Given the description of an element on the screen output the (x, y) to click on. 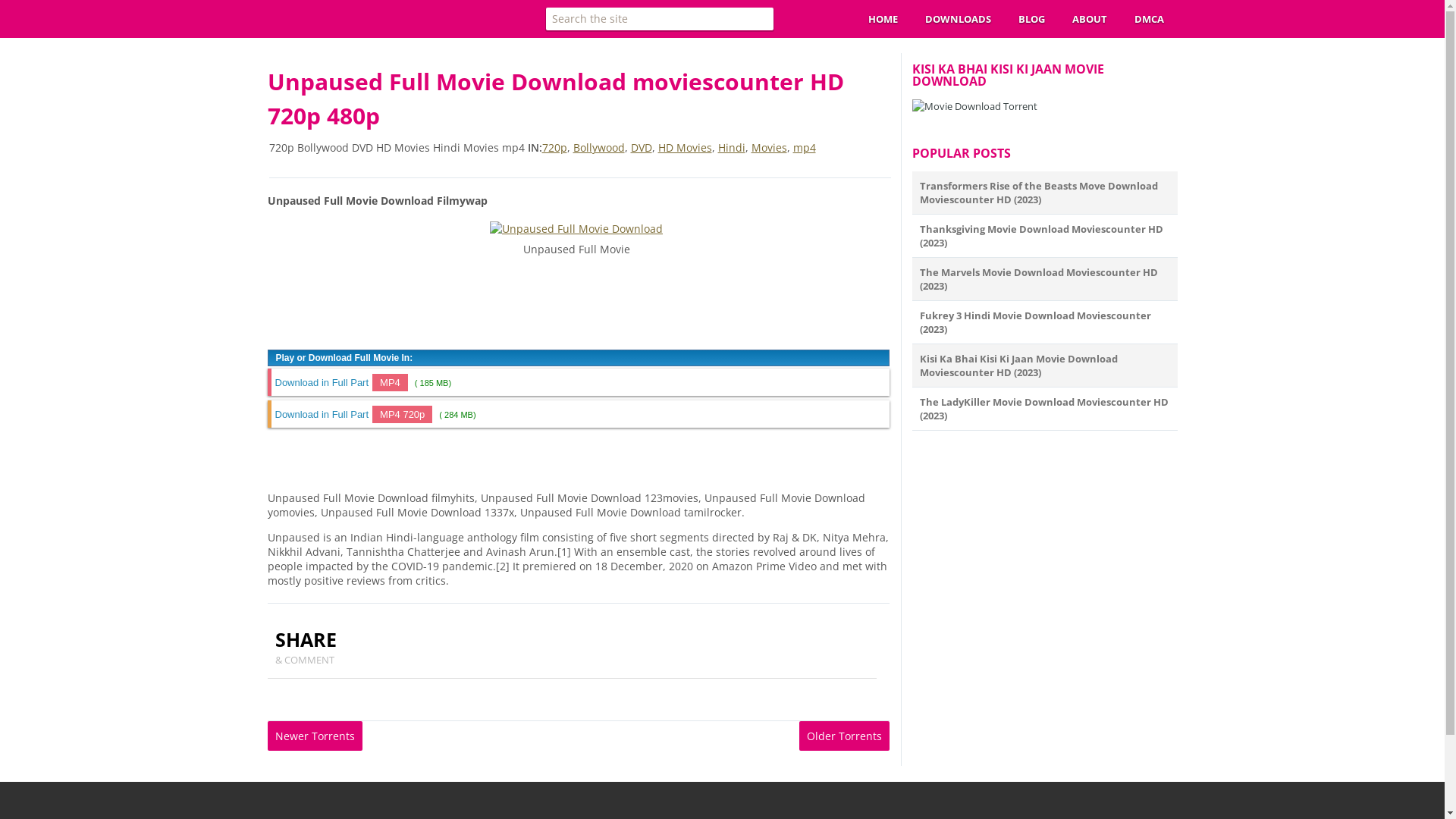
Fukrey 3 Hindi Movie Download Moviescounter (2023) Element type: text (1034, 321)
DVD Element type: text (641, 147)
DMCA Element type: text (1148, 18)
Bollywood Element type: text (598, 147)
Movies Element type: text (768, 147)
Older Torrents Element type: text (844, 735)
mp4 Element type: text (804, 147)
Thanksgiving Movie Download Moviescounter HD (2023) Element type: text (1040, 235)
HOME Element type: text (881, 18)
Movie Download Element type: hover (973, 105)
Moviescounter Element type: text (325, 32)
Hindi Element type: text (730, 147)
BLOG Element type: text (1030, 18)
Download in Full PartMP4 Element type: text (342, 382)
The LadyKiller Movie Download Moviescounter HD (2023) Element type: text (1043, 408)
Unpaused Full Movie Download Element type: hover (575, 228)
Newer Torrents Element type: text (313, 735)
720p Element type: text (553, 147)
HD Movies Element type: text (685, 147)
DOWNLOADS Element type: text (957, 18)
Download in Full PartMP4 720p Element type: text (355, 414)
The Marvels Movie Download Moviescounter HD (2023) Element type: text (1038, 278)
ABOUT Element type: text (1089, 18)
